Given the description of an element on the screen output the (x, y) to click on. 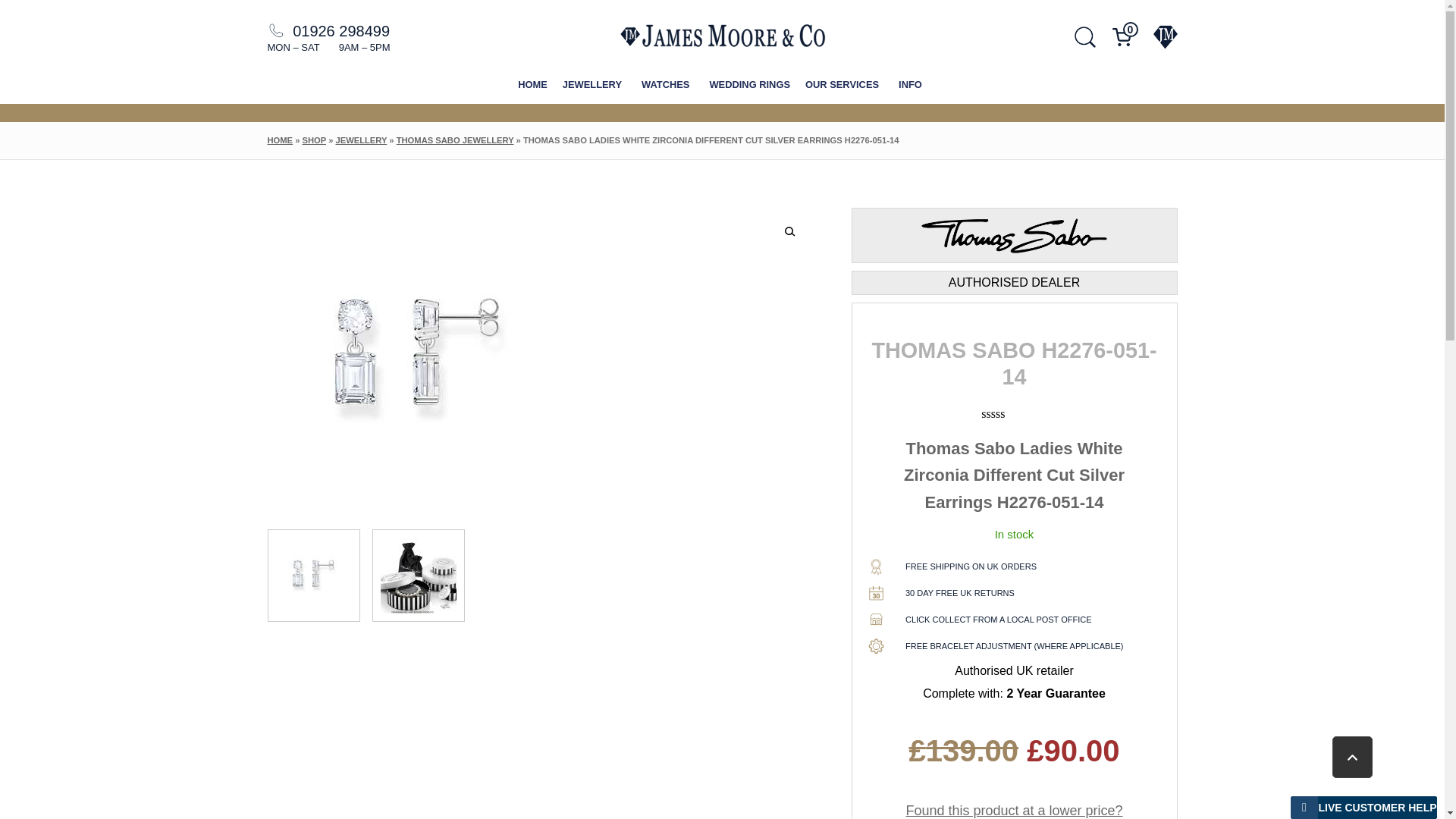
JEWELLERY (593, 85)
0 (1125, 36)
HOME (532, 85)
